Given the description of an element on the screen output the (x, y) to click on. 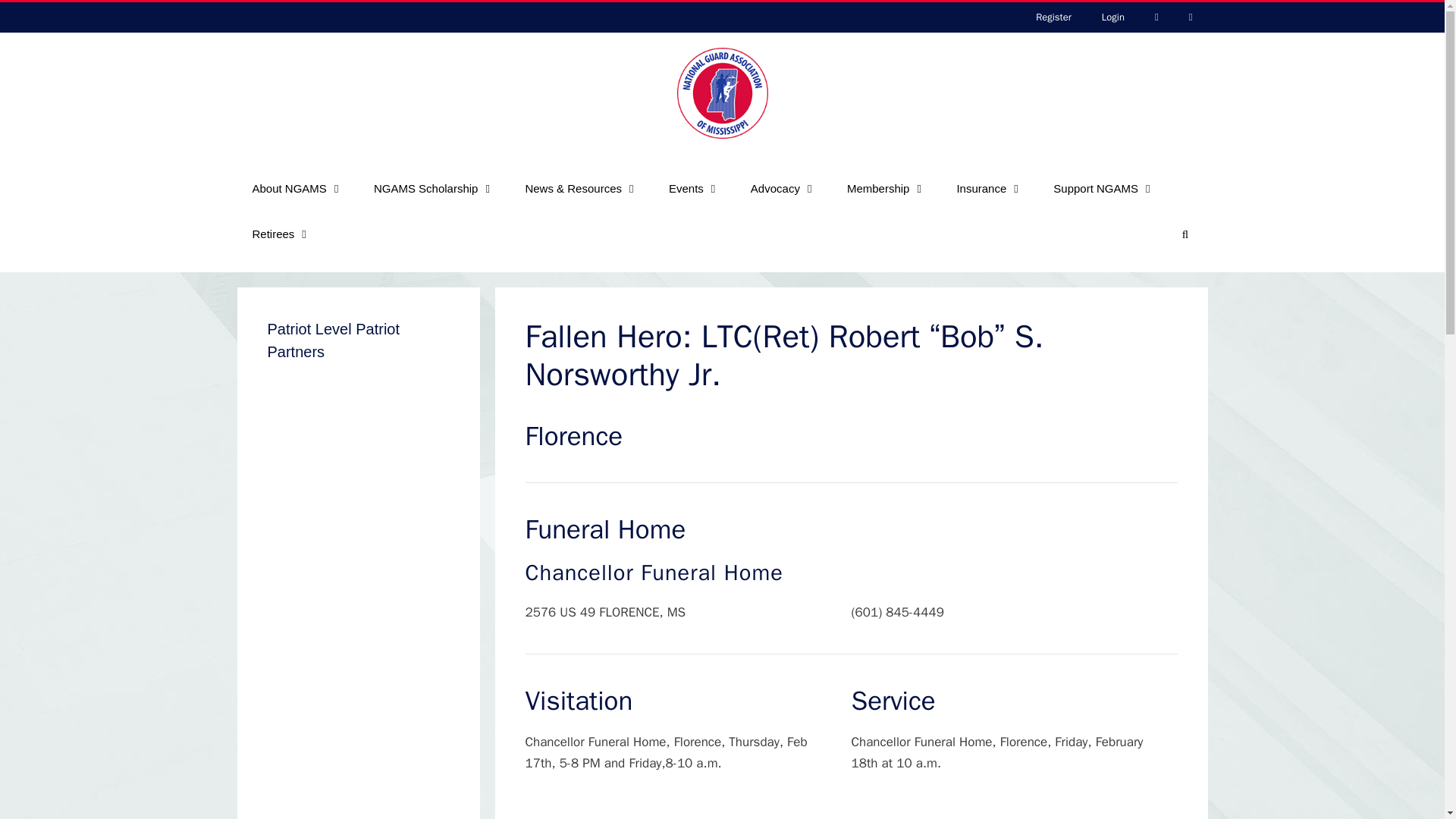
NGAMS Scholarship (434, 188)
Login (1113, 17)
Events (694, 188)
Register (1053, 17)
About NGAMS (296, 188)
